Given the description of an element on the screen output the (x, y) to click on. 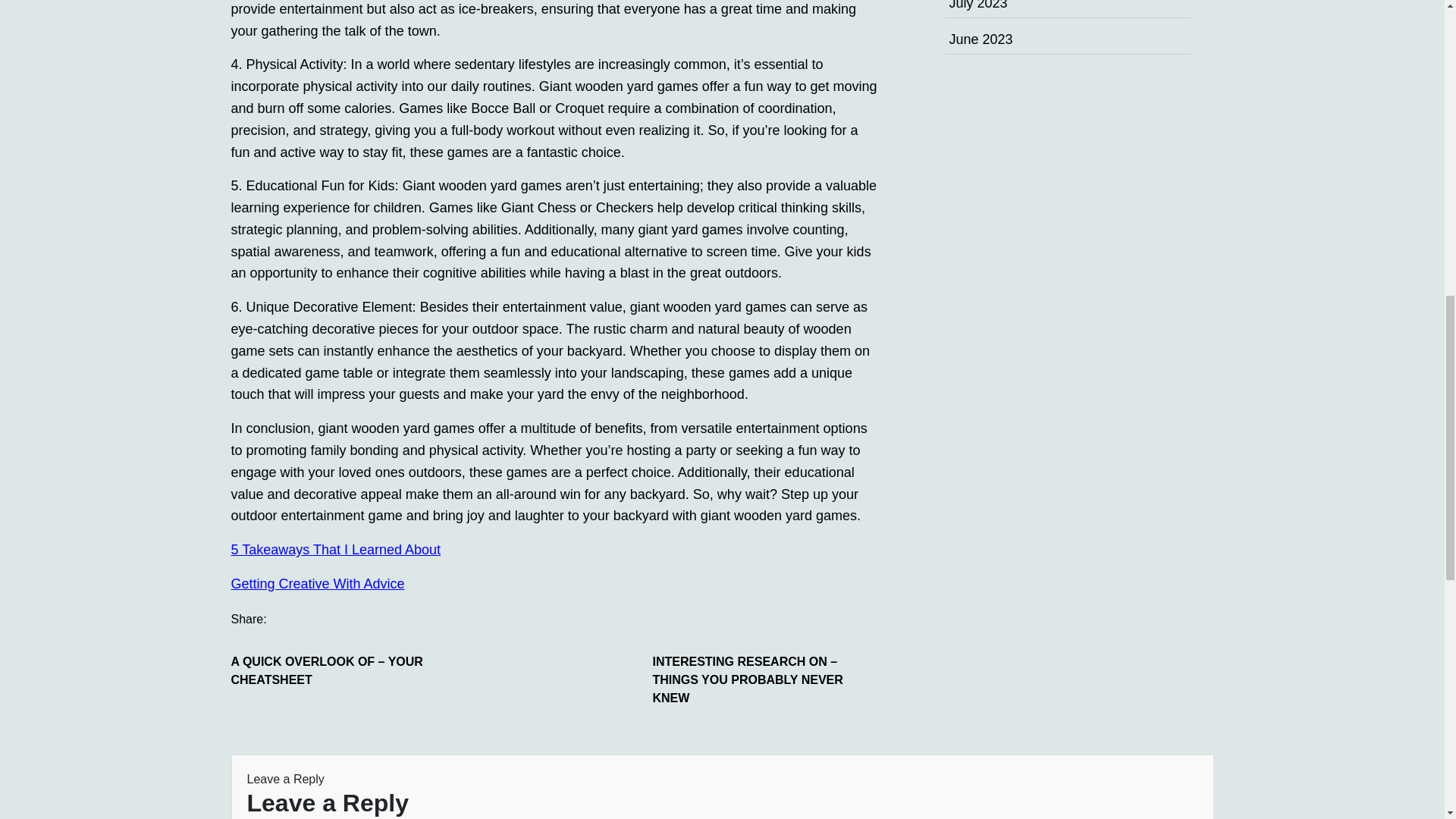
Getting Creative With Advice (317, 583)
June 2023 (981, 38)
5 Takeaways That I Learned About (335, 549)
July 2023 (978, 5)
